Given the description of an element on the screen output the (x, y) to click on. 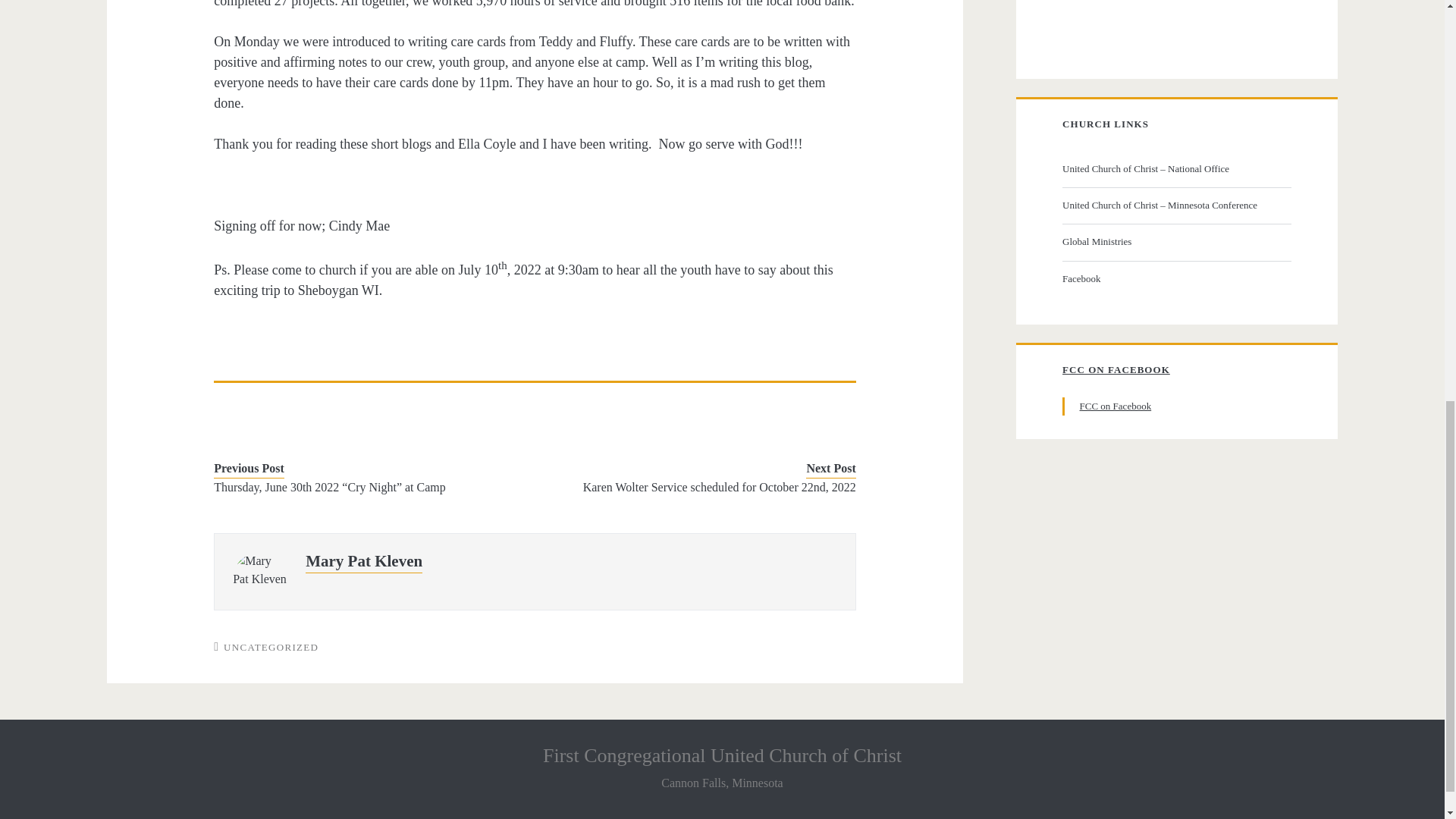
God is still speaking. All the people welcome here. (1174, 168)
FCC on Facebook (1115, 405)
First Congregational United Church of Christ (722, 755)
View all posts in Uncategorized (271, 646)
Global Ministries (1174, 241)
UNCATEGORIZED (271, 646)
FCC ON FACEBOOK (1116, 369)
Facebook (1174, 279)
Karen Wolter Service scheduled for October 22nd, 2022 (708, 487)
